Given the description of an element on the screen output the (x, y) to click on. 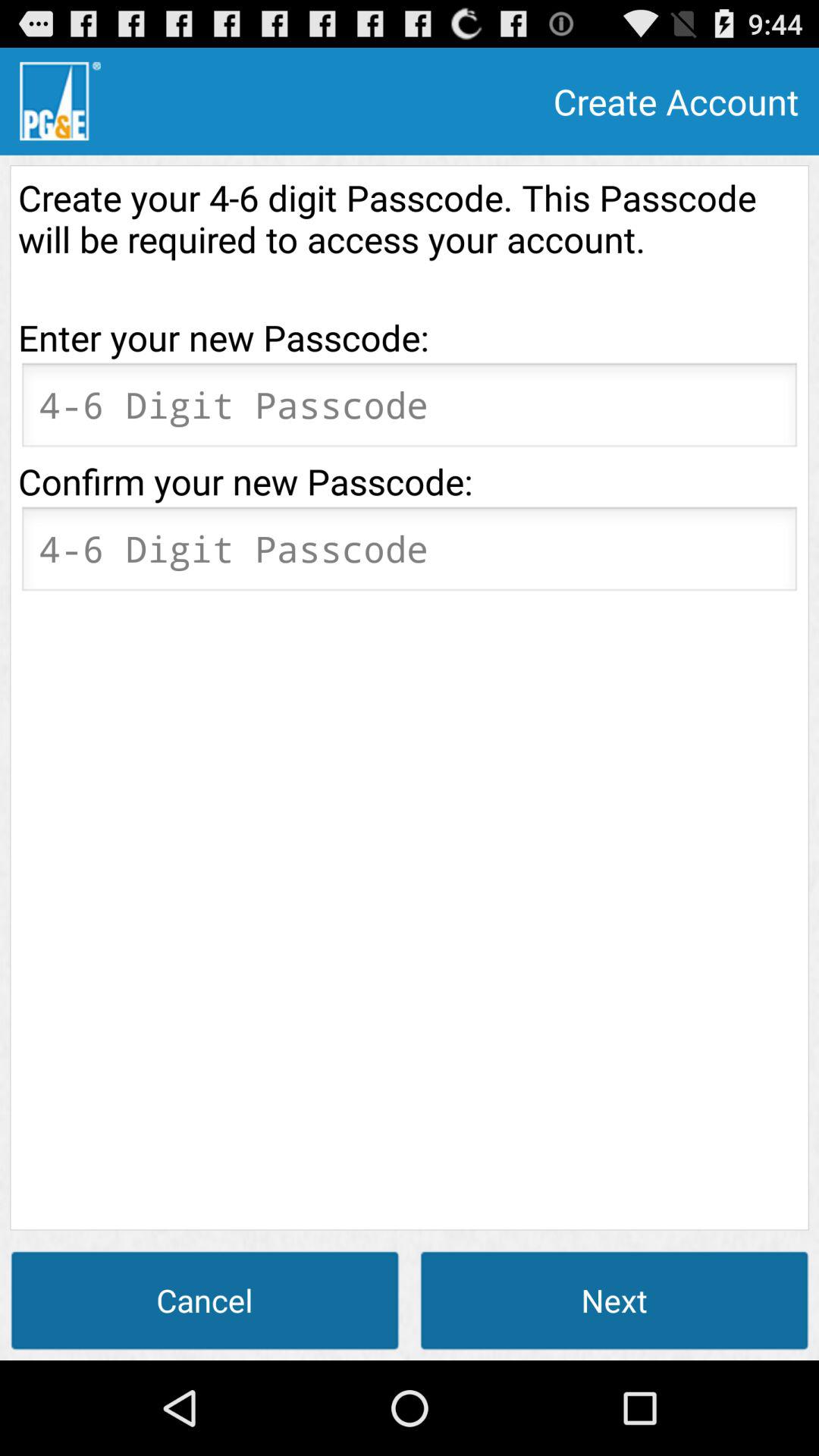
orange box flashing for entering information on it (409, 409)
